Given the description of an element on the screen output the (x, y) to click on. 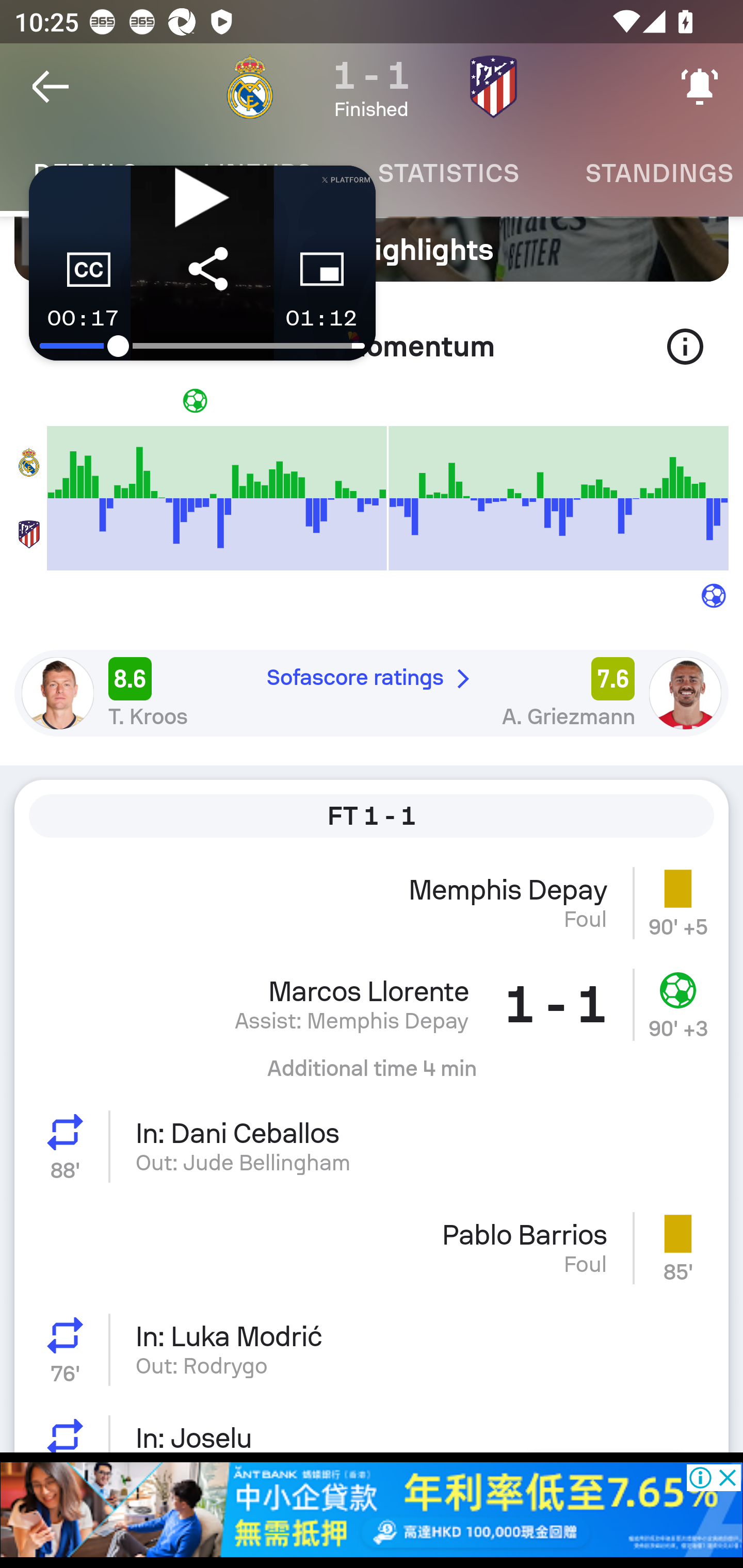
Navigate up (50, 86)
Statistics STATISTICS (448, 173)
Standings STANDINGS (647, 173)
8.6 Sofascore ratings 7.6 T. Kroos A. Griezmann (371, 692)
FT 1 - 1 (371, 815)
Memphis Depay Foul Yellow card 90' +5 (371, 902)
Additional time 4 min (371, 1075)
Pablo Barrios Foul Yellow card 85' (371, 1247)
Substitution In: Luka Modrić 76' Out: Rodrygo (371, 1349)
Substitution In: Joselu (371, 1425)
